Given the description of an element on the screen output the (x, y) to click on. 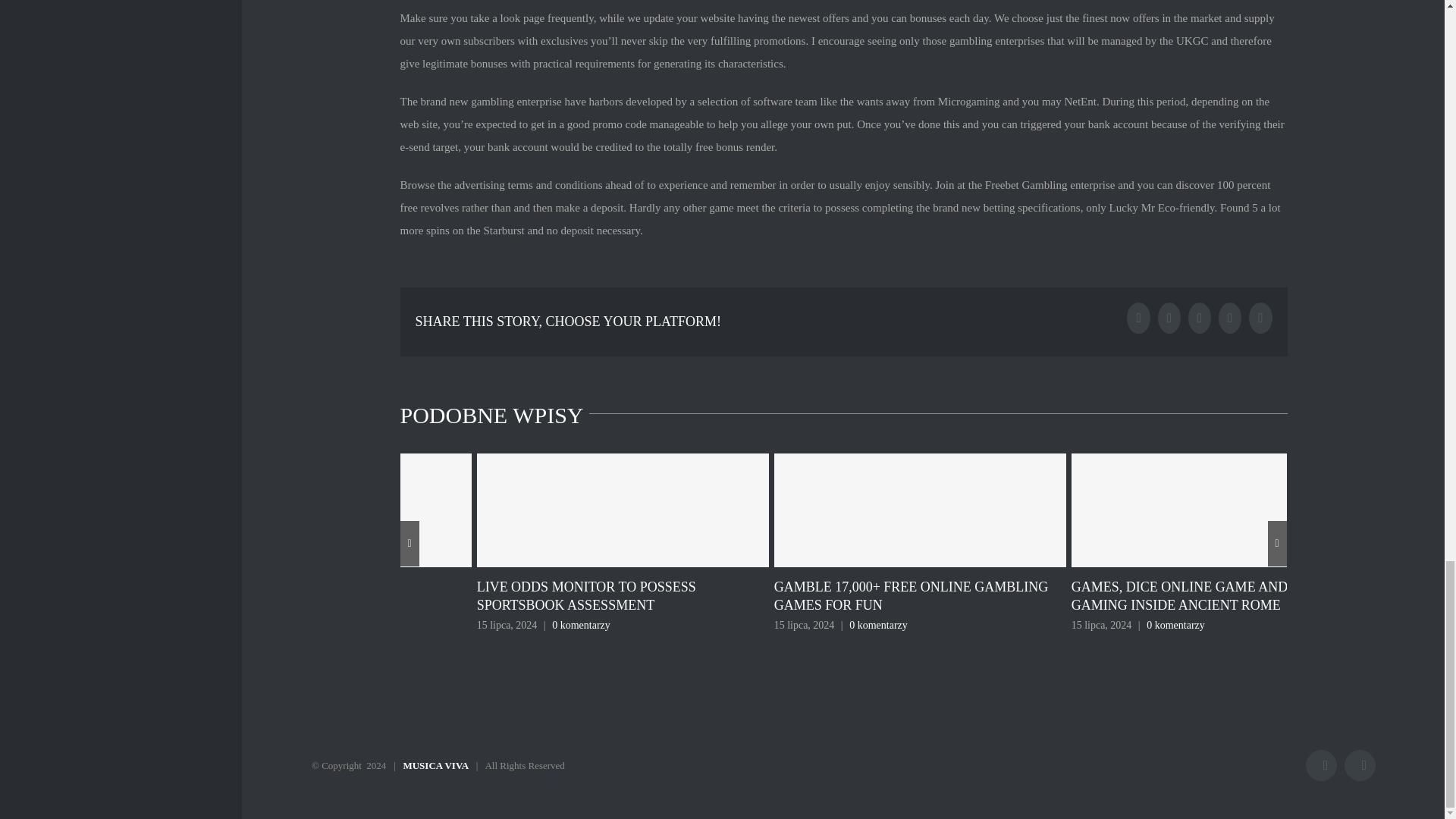
LIVE ODDS MONITOR TO POSSESS SPORTSBOOK ASSESSMENT (586, 595)
0 komentarzy (877, 624)
Facebook (1138, 317)
Vimeo (1359, 765)
Twitter (1168, 317)
Tumblr (1199, 317)
Facebook (1321, 765)
0 komentarzy (580, 624)
0 komentarzy (1176, 624)
Pinterest (1260, 317)
